Given the description of an element on the screen output the (x, y) to click on. 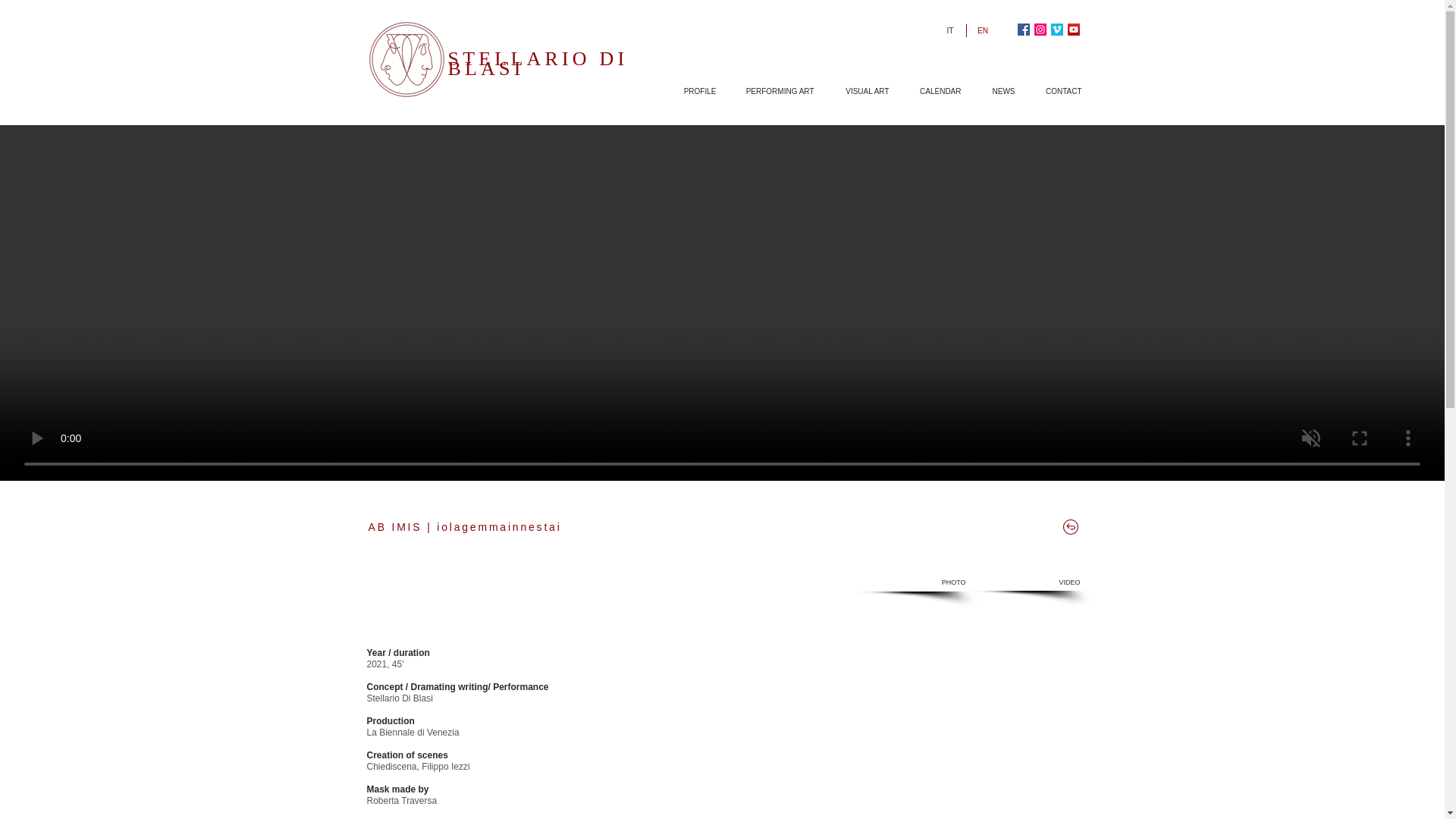
CONTACT (1055, 91)
STELLARIO DI BLASI (536, 63)
EN (983, 30)
VIDEO (1027, 582)
IT (951, 30)
VISUAL ART (859, 91)
PERFORMING ART (772, 91)
PROFILE (692, 91)
NEWS (996, 91)
CALENDAR (932, 91)
